Given the description of an element on the screen output the (x, y) to click on. 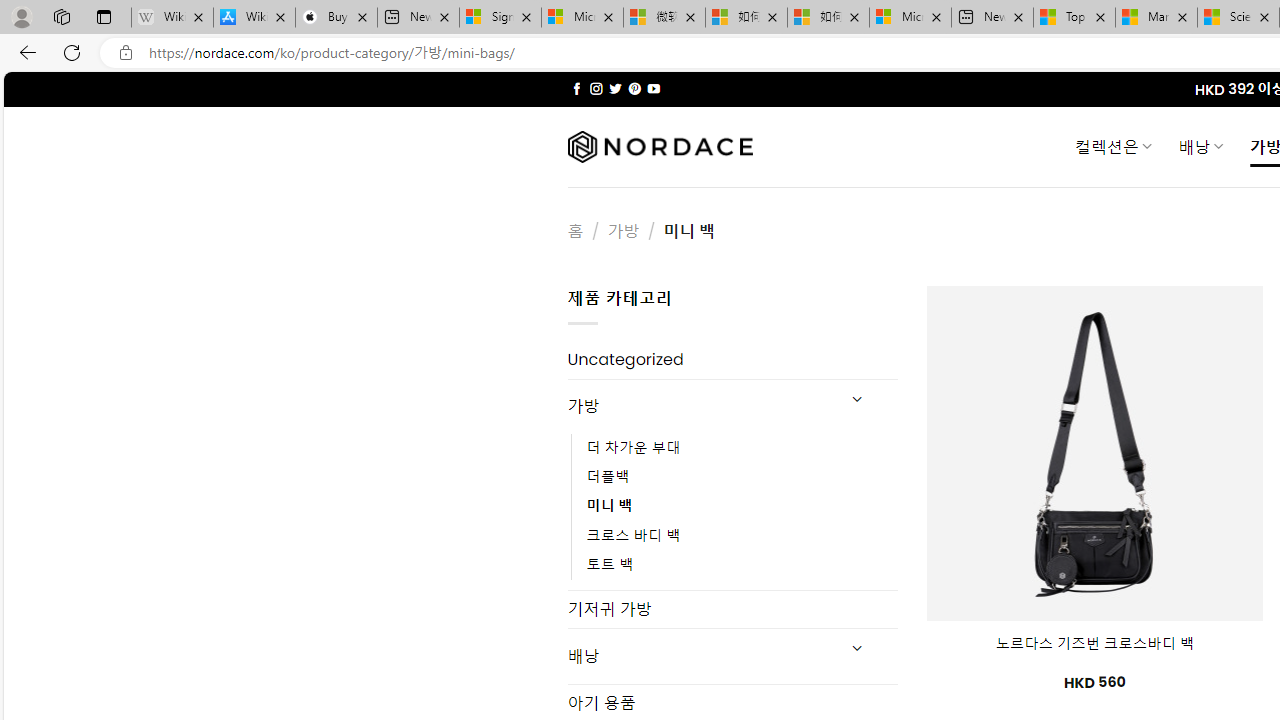
Follow on Facebook (576, 88)
Uncategorized (732, 359)
